Given the description of an element on the screen output the (x, y) to click on. 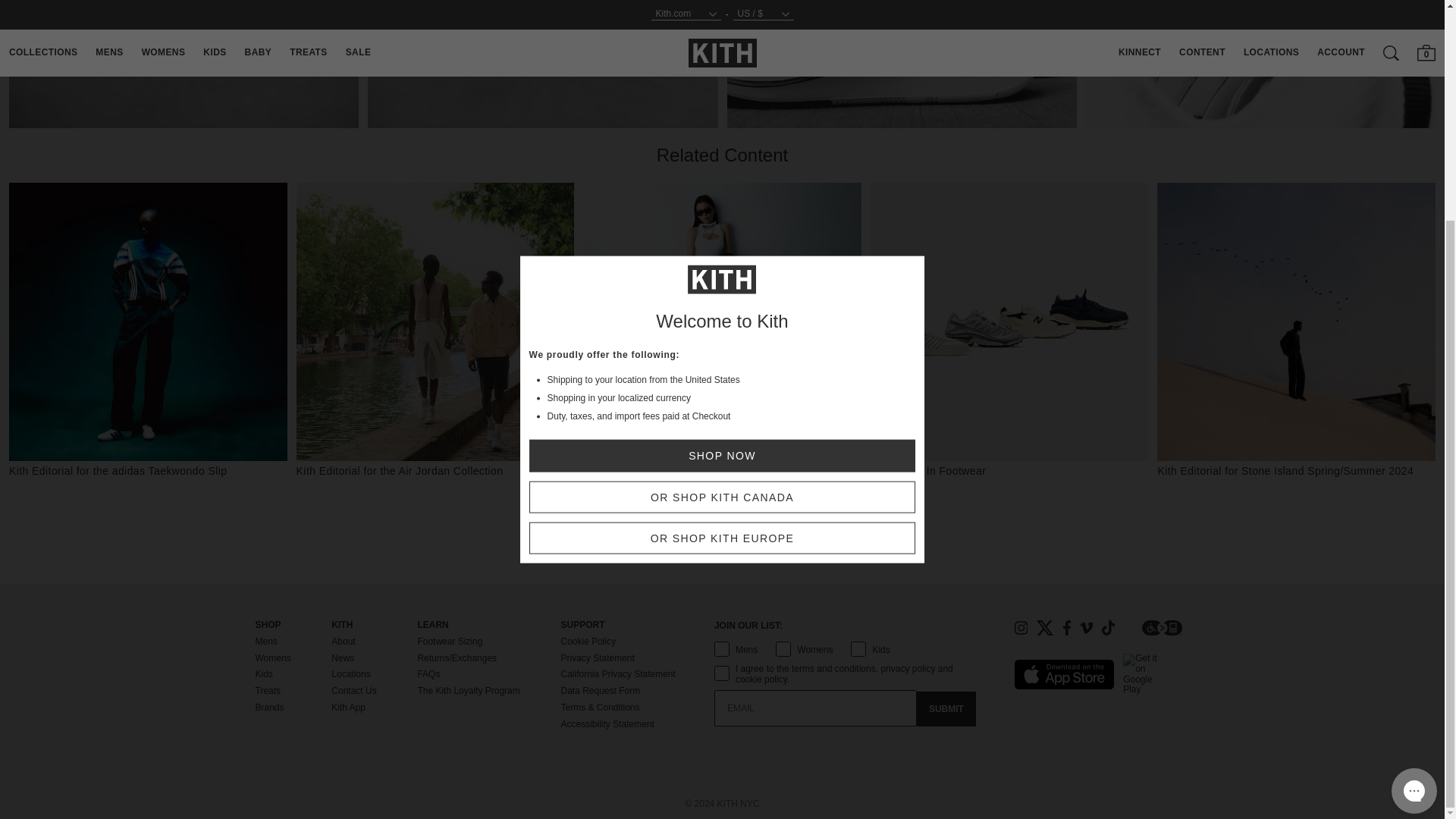
essential Accessibility Icon (1161, 627)
X (1044, 627)
Vimeo (1086, 627)
Instagram (1020, 627)
X (1044, 627)
